Given the description of an element on the screen output the (x, y) to click on. 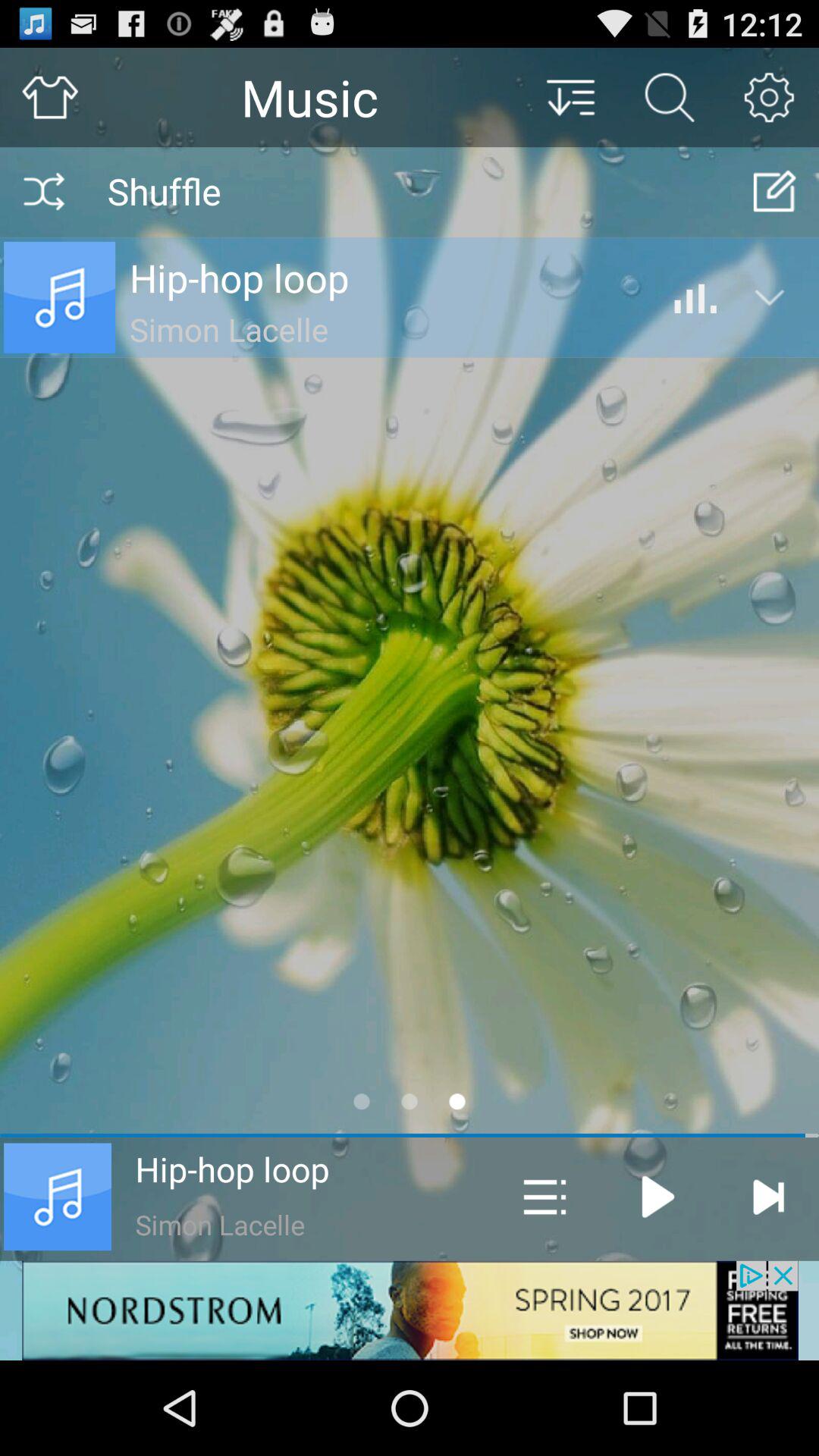
open app to the right of the hip-hop loop icon (544, 1197)
